Given the description of an element on the screen output the (x, y) to click on. 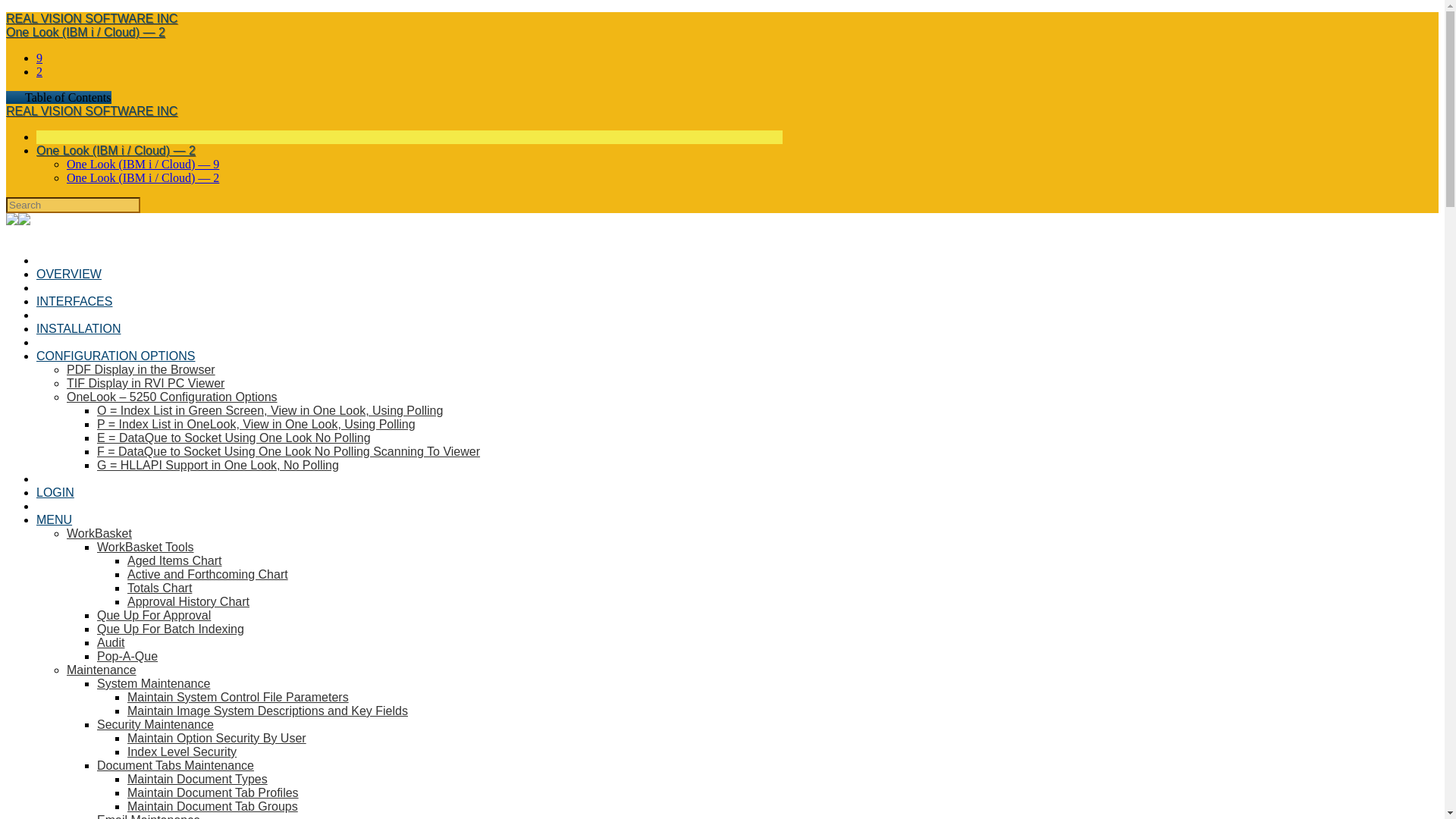
REAL VISION SOFTWARE INC (91, 18)
Active and Forthcoming Chart (208, 574)
WorkBasket (99, 533)
REAL VISION SOFTWARE INC (91, 110)
CONFIGURATION OPTIONS (115, 355)
LOGIN (55, 492)
Approval History Chart (188, 601)
Aged Items Chart (175, 560)
WorkBasket Tools (145, 546)
Que Up For Approval (154, 615)
Pop-A-Que (127, 656)
Que Up For Batch Indexing (170, 628)
PDF Display in the Browser (140, 369)
Maintain System Control File Parameters (238, 697)
Maintenance (101, 669)
